Given the description of an element on the screen output the (x, y) to click on. 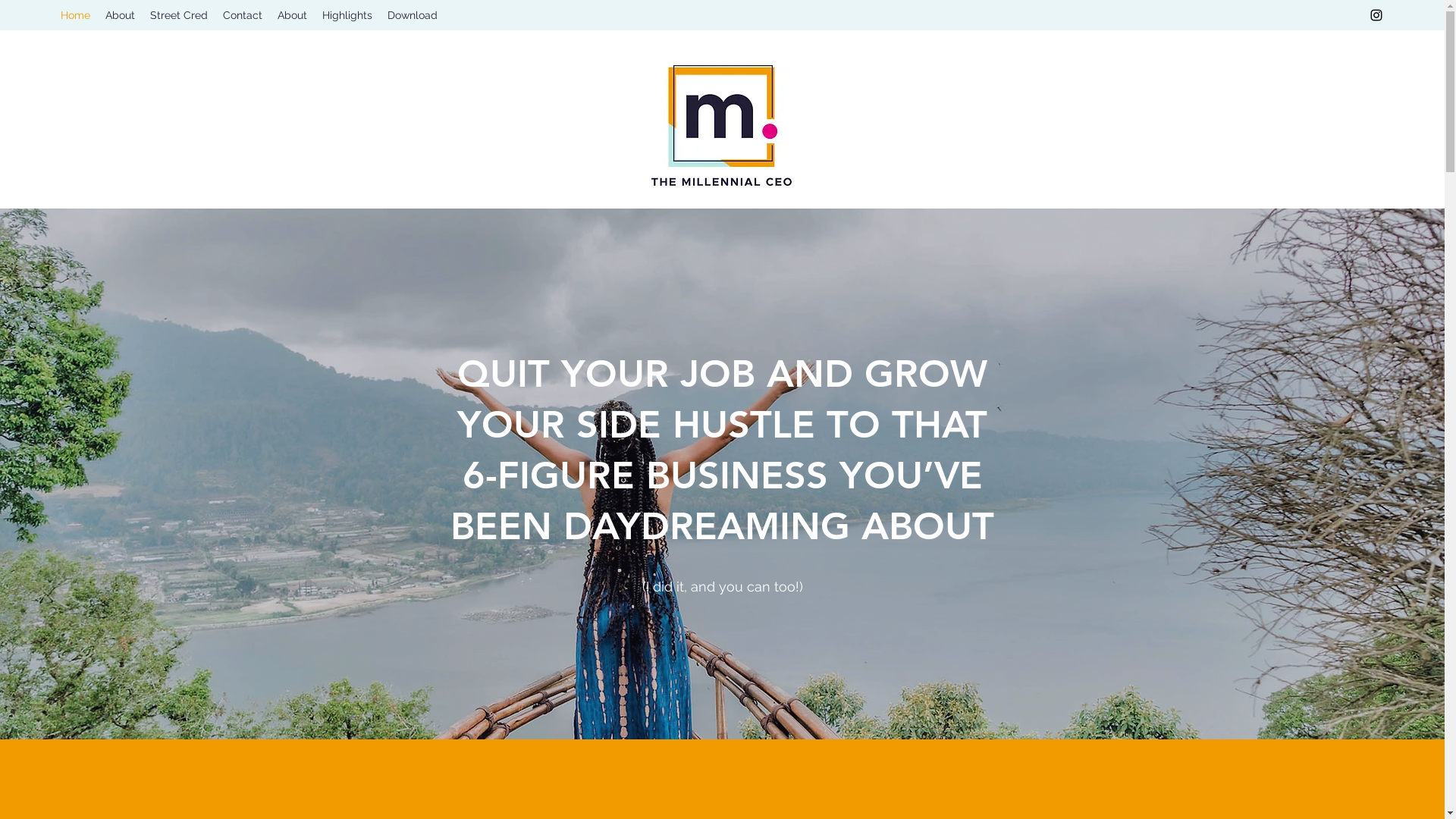
Street Cred Element type: text (178, 14)
Download Element type: text (412, 14)
Home Element type: text (75, 14)
Contact Element type: text (242, 14)
Highlights Element type: text (346, 14)
About Element type: text (119, 14)
About Element type: text (291, 14)
